Given the description of an element on the screen output the (x, y) to click on. 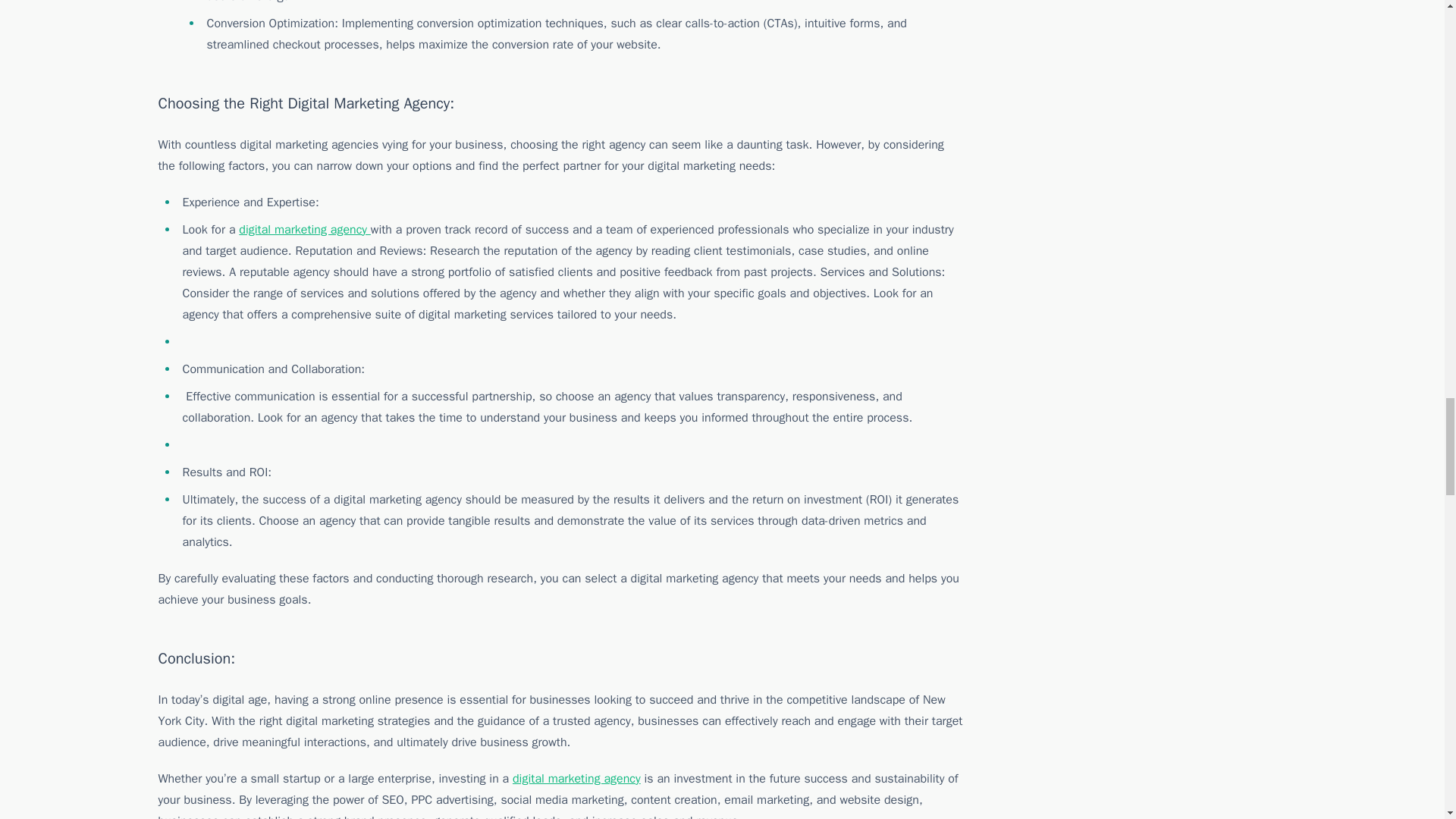
digital marketing agency (304, 229)
